Given the description of an element on the screen output the (x, y) to click on. 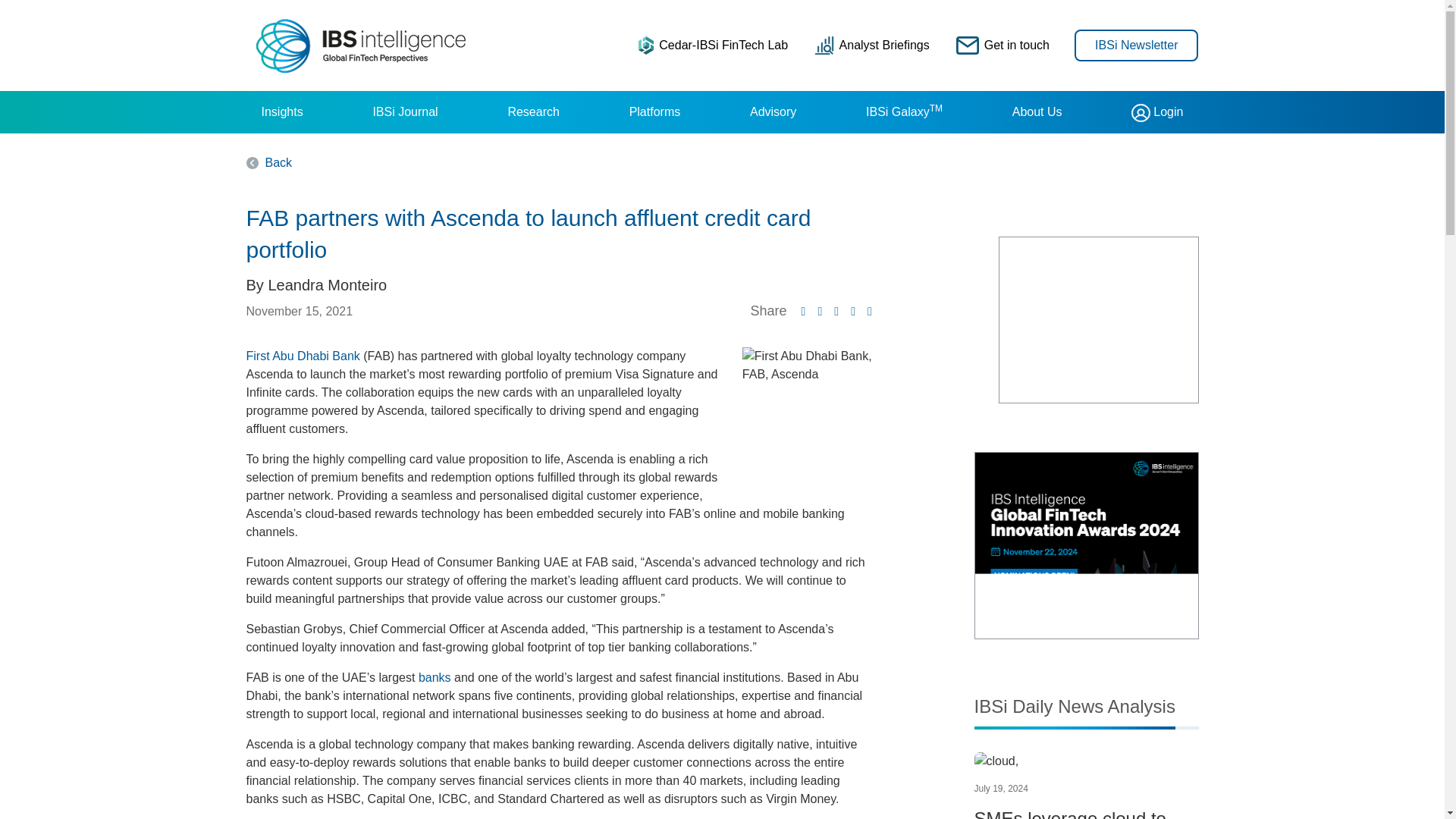
Research (532, 111)
Get in touch (1002, 45)
Insights (281, 111)
Cedar-IBSi FinTech Lab (712, 45)
IBSi Journal (404, 111)
Analyst Briefings (871, 45)
IBSi Newsletter (1136, 44)
